Given the description of an element on the screen output the (x, y) to click on. 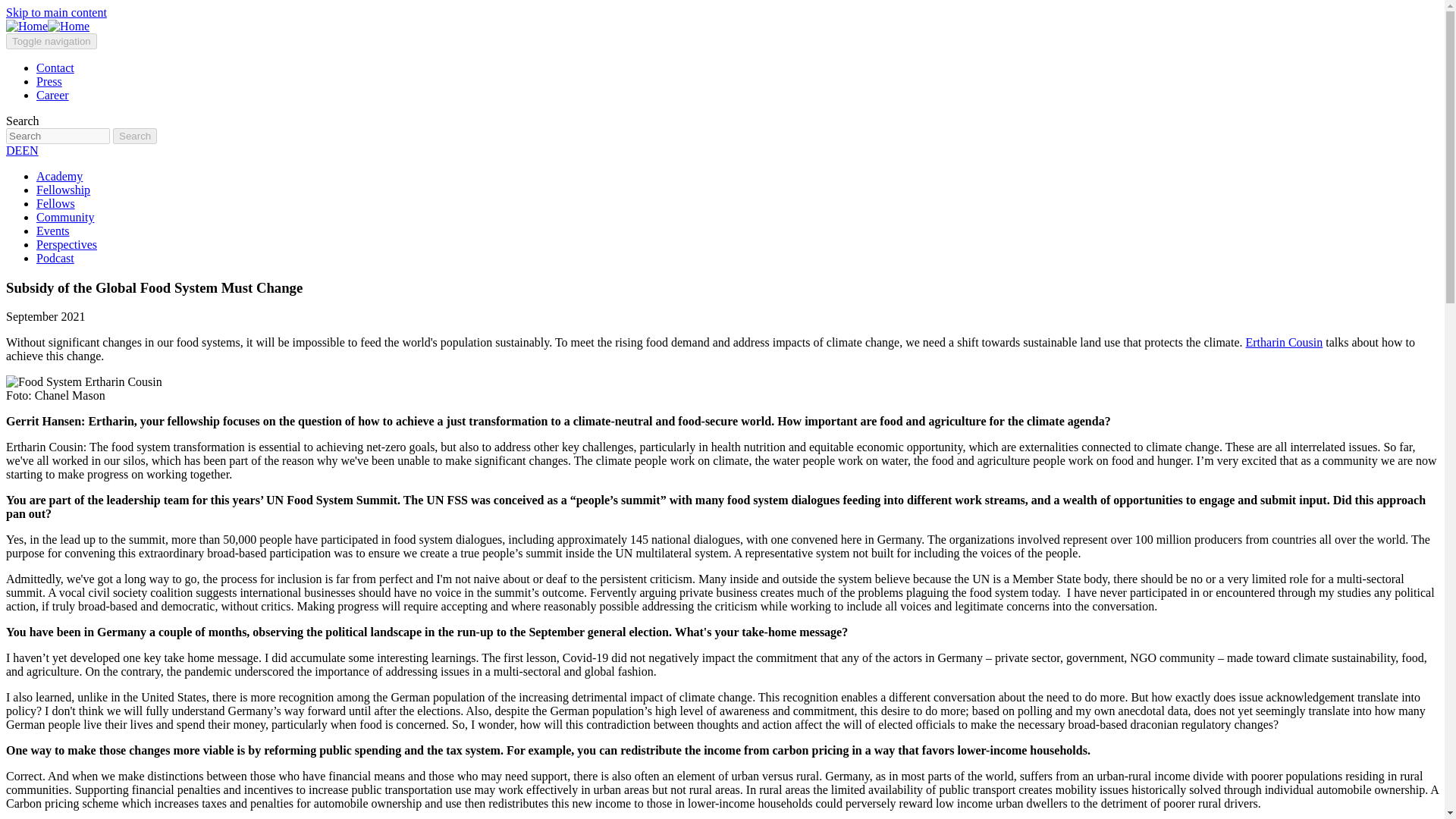
Events (52, 230)
Fellows (55, 203)
Contact (55, 67)
Press (49, 81)
Podcast (55, 257)
DE (13, 150)
Toggle navigation (51, 41)
Search (57, 135)
Academy (59, 175)
Search (135, 135)
Home (46, 25)
Community (65, 216)
English (29, 150)
Ertharin Cousin (1284, 341)
Subsidy of the Global Food System Must Change (153, 287)
